Given the description of an element on the screen output the (x, y) to click on. 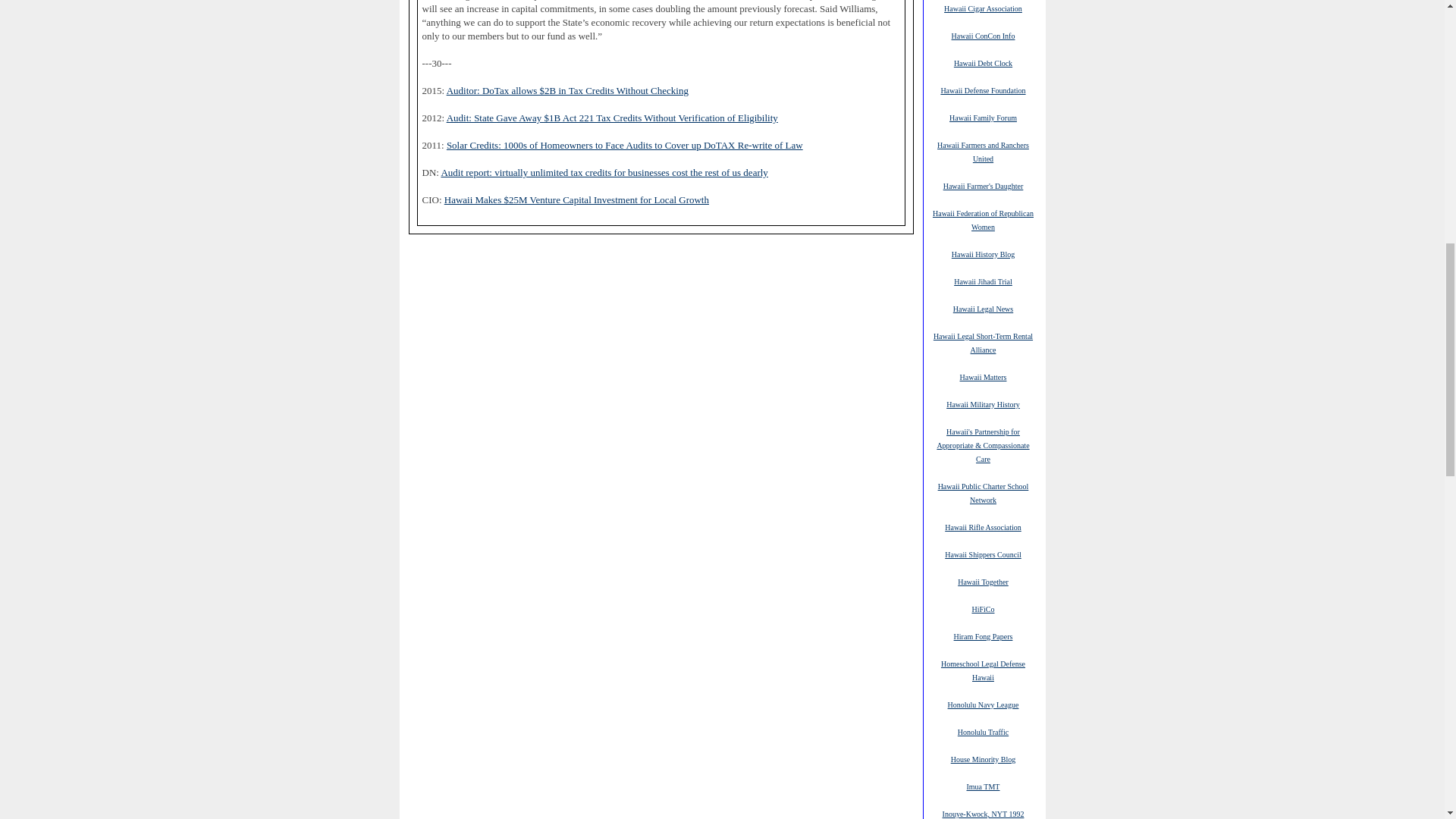
Hawaii ConCon Info (983, 35)
Hawaii Debt Clock (982, 62)
Hawaii Cigar Association (982, 8)
